Given the description of an element on the screen output the (x, y) to click on. 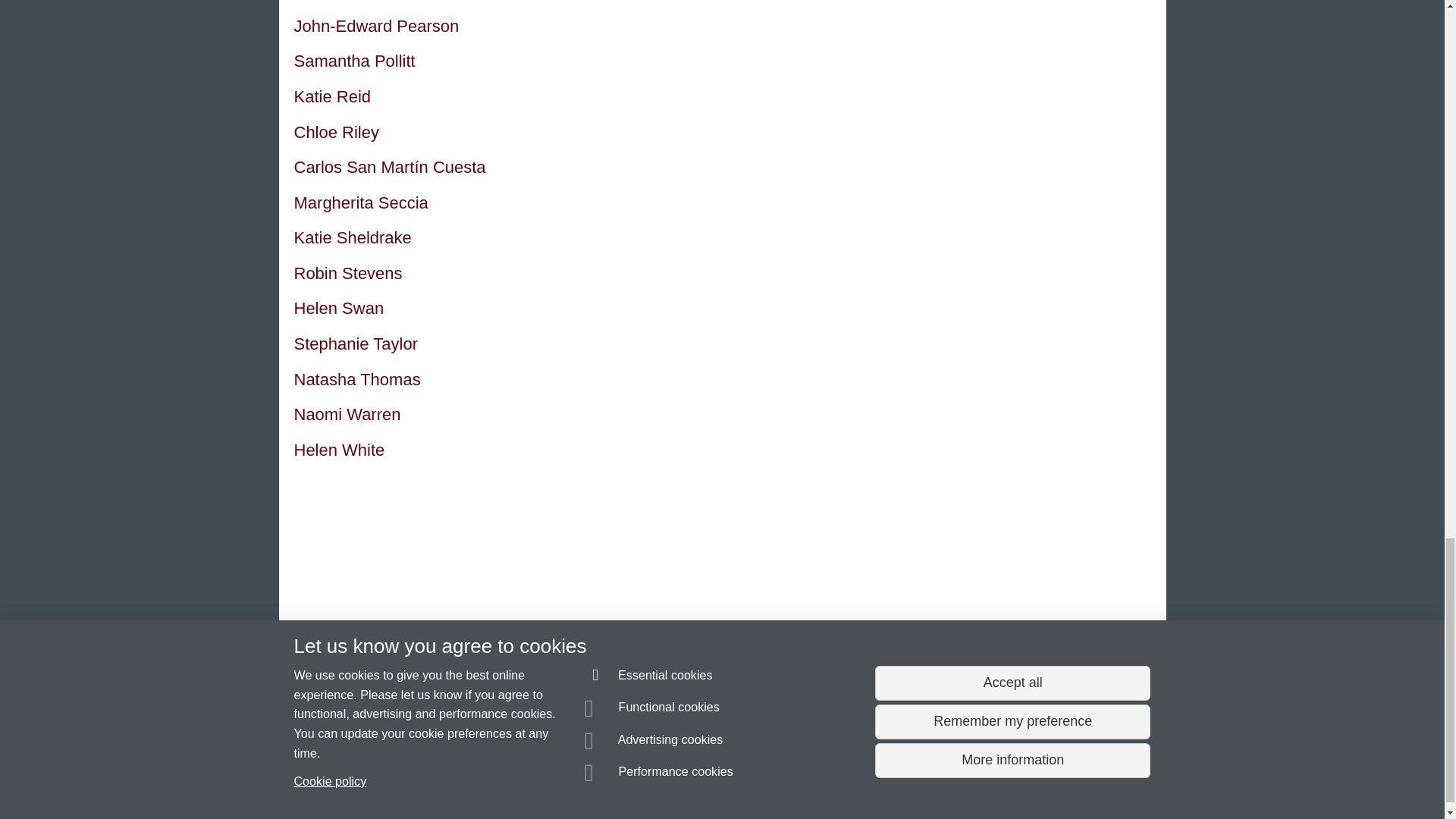
Information about cookies (467, 796)
Support the Renaissance Centre (991, 719)
Copyright Statement (514, 796)
Centre for the Study of the Renaissance on Facebook (895, 676)
Privacy notice (673, 796)
Centre for the Study of the Renaissance on Twitter (938, 676)
More information about SiteBuilder (365, 796)
Terms of use (708, 796)
